Given the description of an element on the screen output the (x, y) to click on. 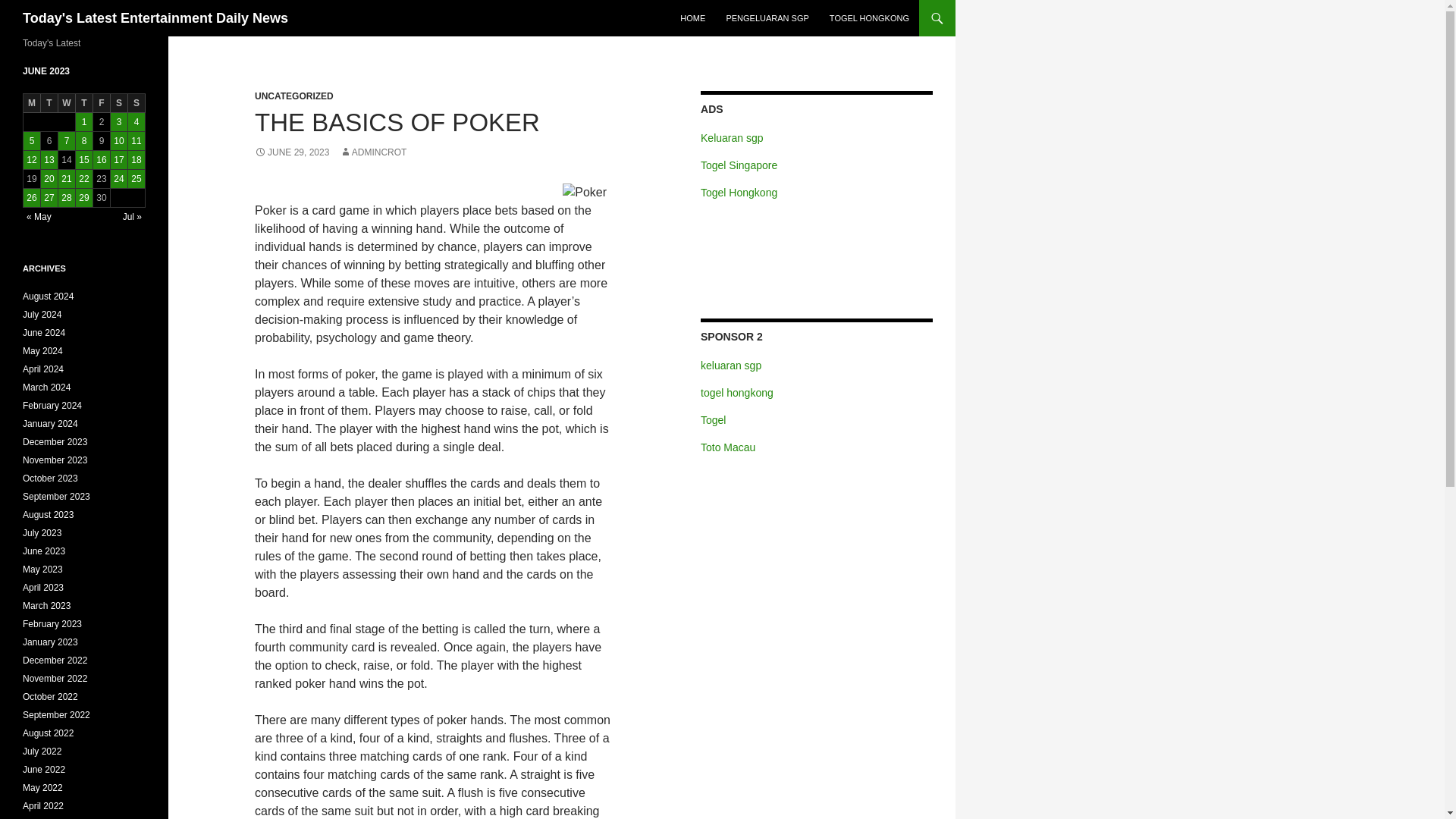
22 (84, 178)
21 (66, 178)
TOGEL HONGKONG (869, 18)
Thursday (84, 103)
24 (119, 178)
HOME (692, 18)
26 (31, 198)
Saturday (119, 103)
togel hongkong (736, 392)
Friday (101, 103)
